Given the description of an element on the screen output the (x, y) to click on. 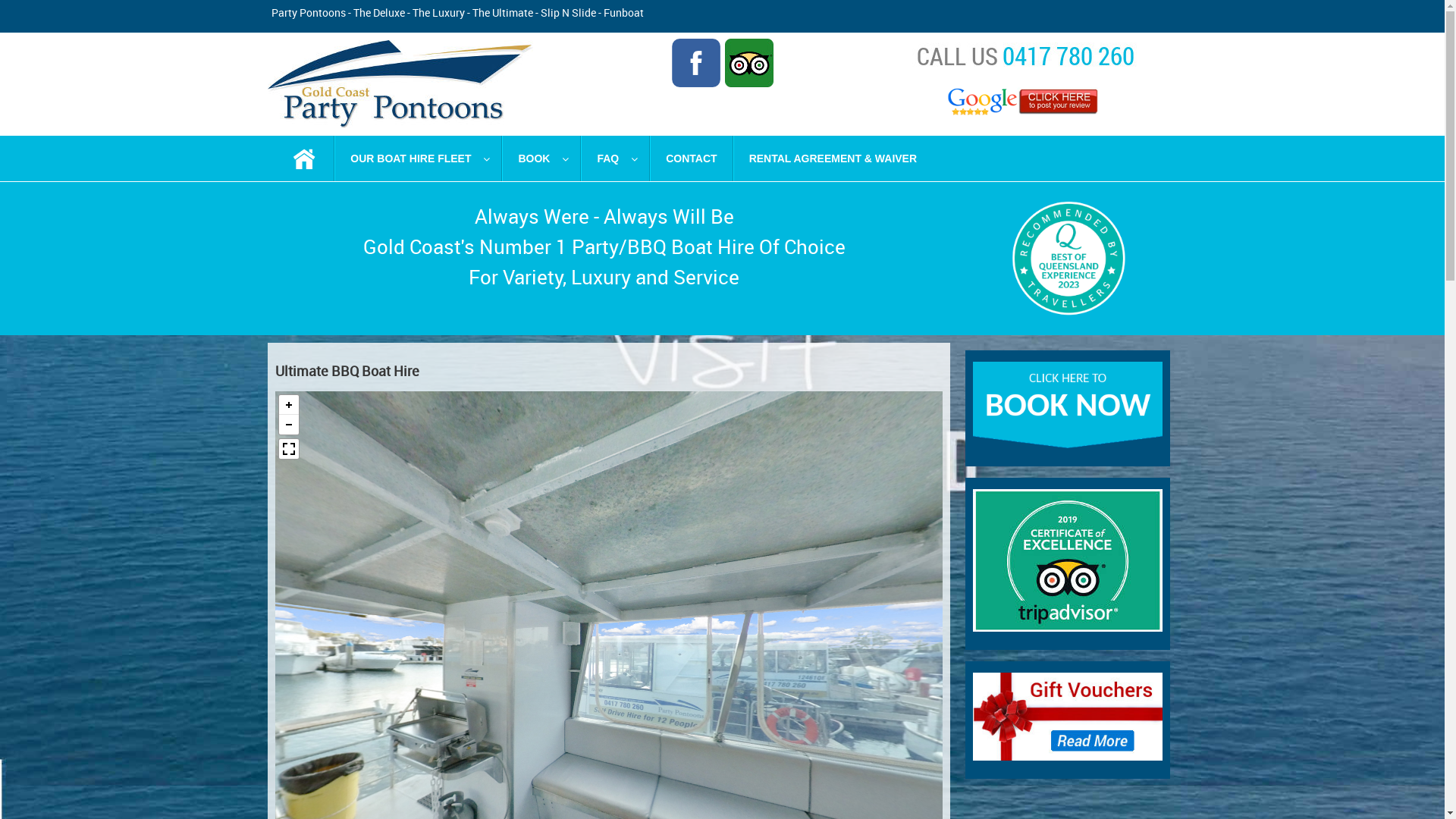
Funboat Element type: text (623, 12)
Book Broadwater Hire Boats Element type: hover (1066, 404)
OUR BOAT HIRE FLEET Element type: text (418, 158)
CONTACT Element type: text (690, 158)
Follow us on Facebook Element type: hover (695, 62)
BOOK Element type: text (541, 158)
Google Review Element type: hover (1024, 101)
   Element type: text (304, 158)
phone Element type: hover (1025, 54)
The Luxury Element type: text (438, 12)
The Deluxe Element type: text (378, 12)
Google Review Element type: hover (1025, 101)
Trip Advisor Element type: hover (748, 62)
Slip N Slide Element type: text (567, 12)
The Ultimate Element type: text (501, 12)
Trip Advisor award Element type: hover (1066, 560)
Gold Coast Cruise Gift Vouchers Element type: hover (1066, 716)
RENTAL AGREEMENT & WAIVER Element type: text (832, 158)
FAQ Element type: text (614, 158)
